Given the description of an element on the screen output the (x, y) to click on. 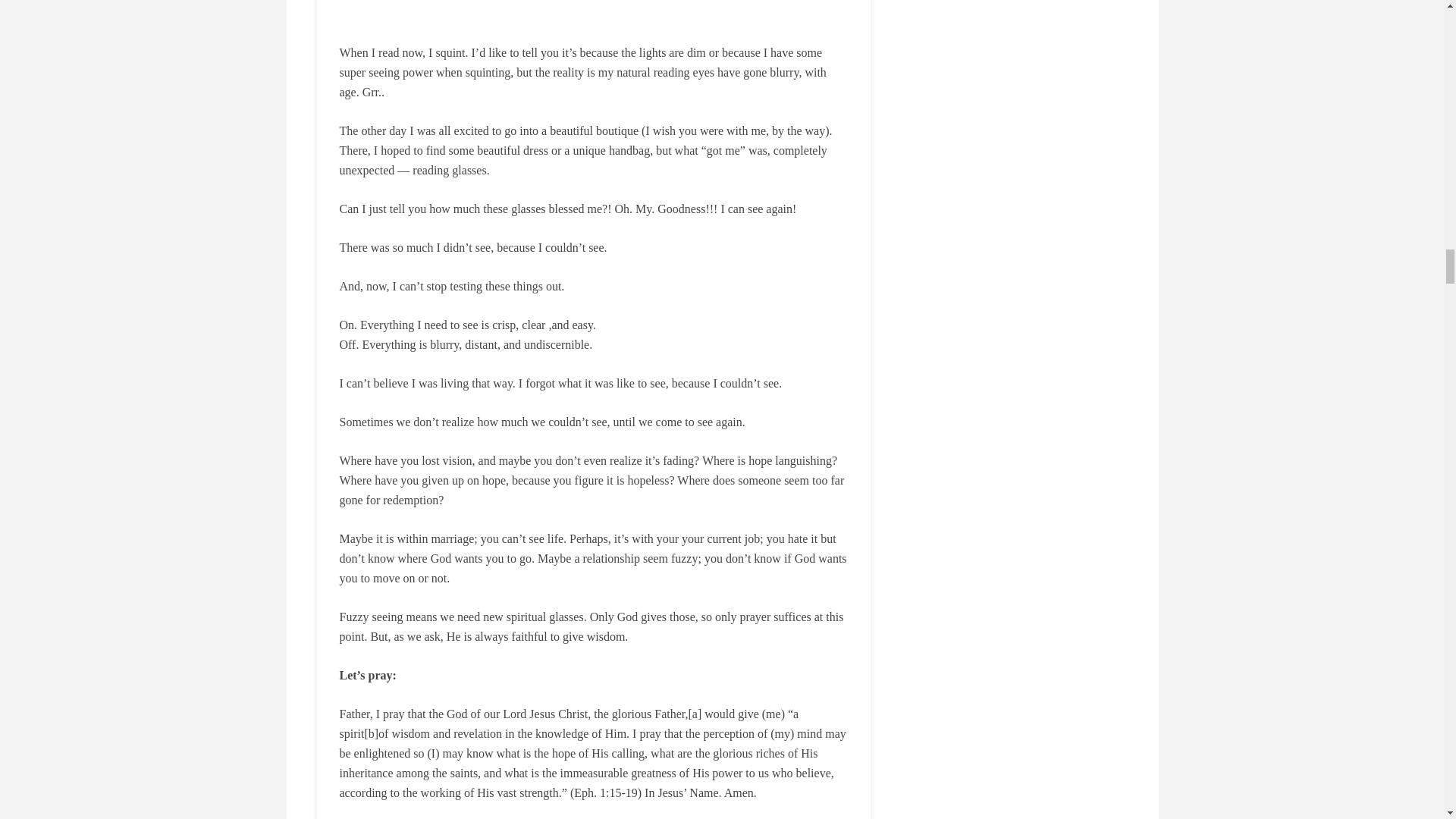
Prayer for Spiritual Wisdom (593, 11)
